Given the description of an element on the screen output the (x, y) to click on. 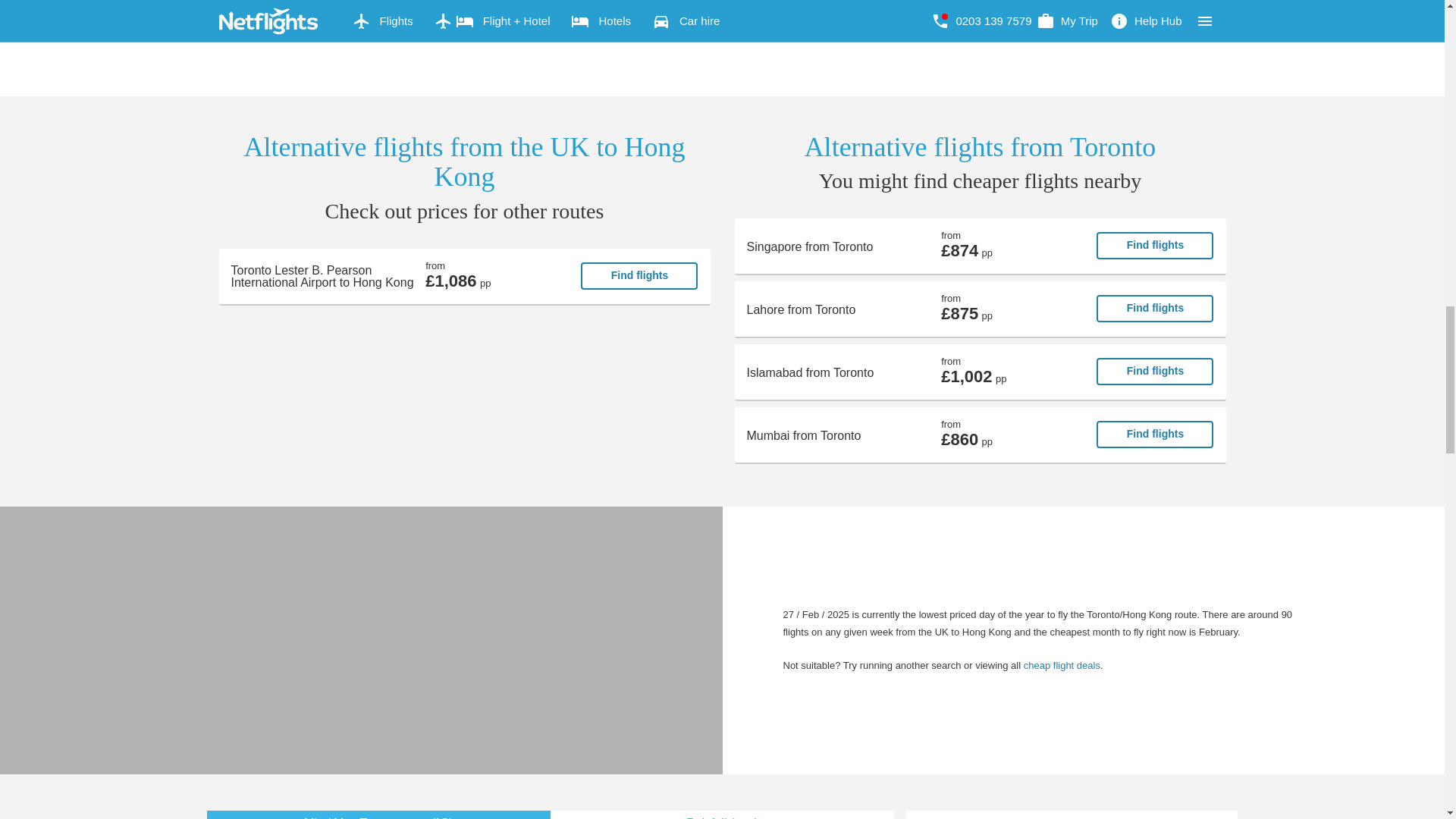
cheap flight deals (1061, 665)
Singapore from Toronto (979, 245)
Toronto Lester B. Pearson International Airport to Hong Kong (464, 275)
Lahore from Toronto (979, 308)
Mumbai from Toronto (979, 434)
Islamabad from Toronto (979, 371)
cheap flight deals (1061, 665)
